Given the description of an element on the screen output the (x, y) to click on. 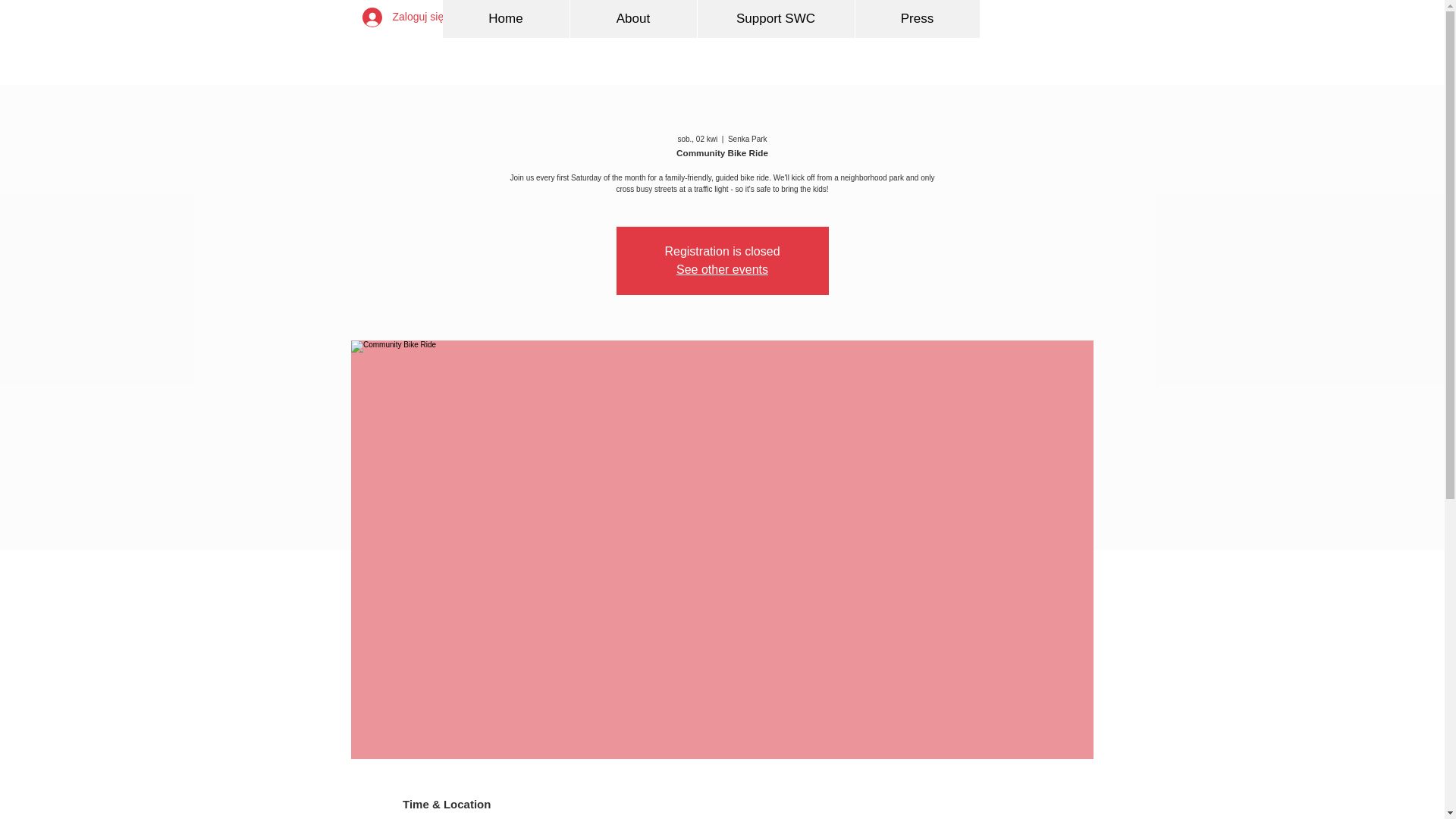
Support SWC (774, 18)
Press (915, 18)
Home (505, 18)
See other events (722, 269)
About (632, 18)
